Given the description of an element on the screen output the (x, y) to click on. 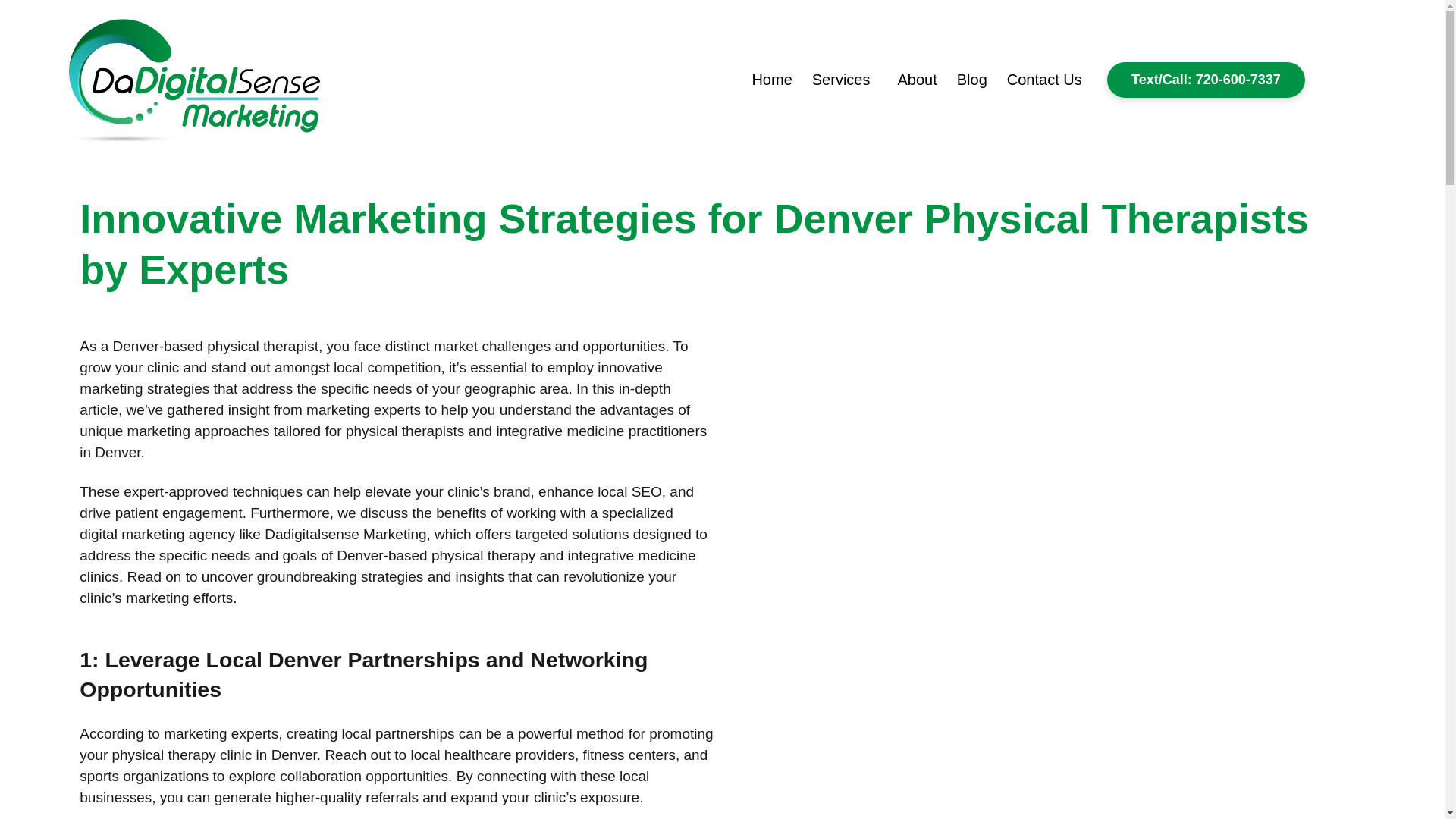
About (916, 79)
Services (845, 79)
Home (771, 79)
Blog (972, 79)
Contact Us (1044, 79)
